Given the description of an element on the screen output the (x, y) to click on. 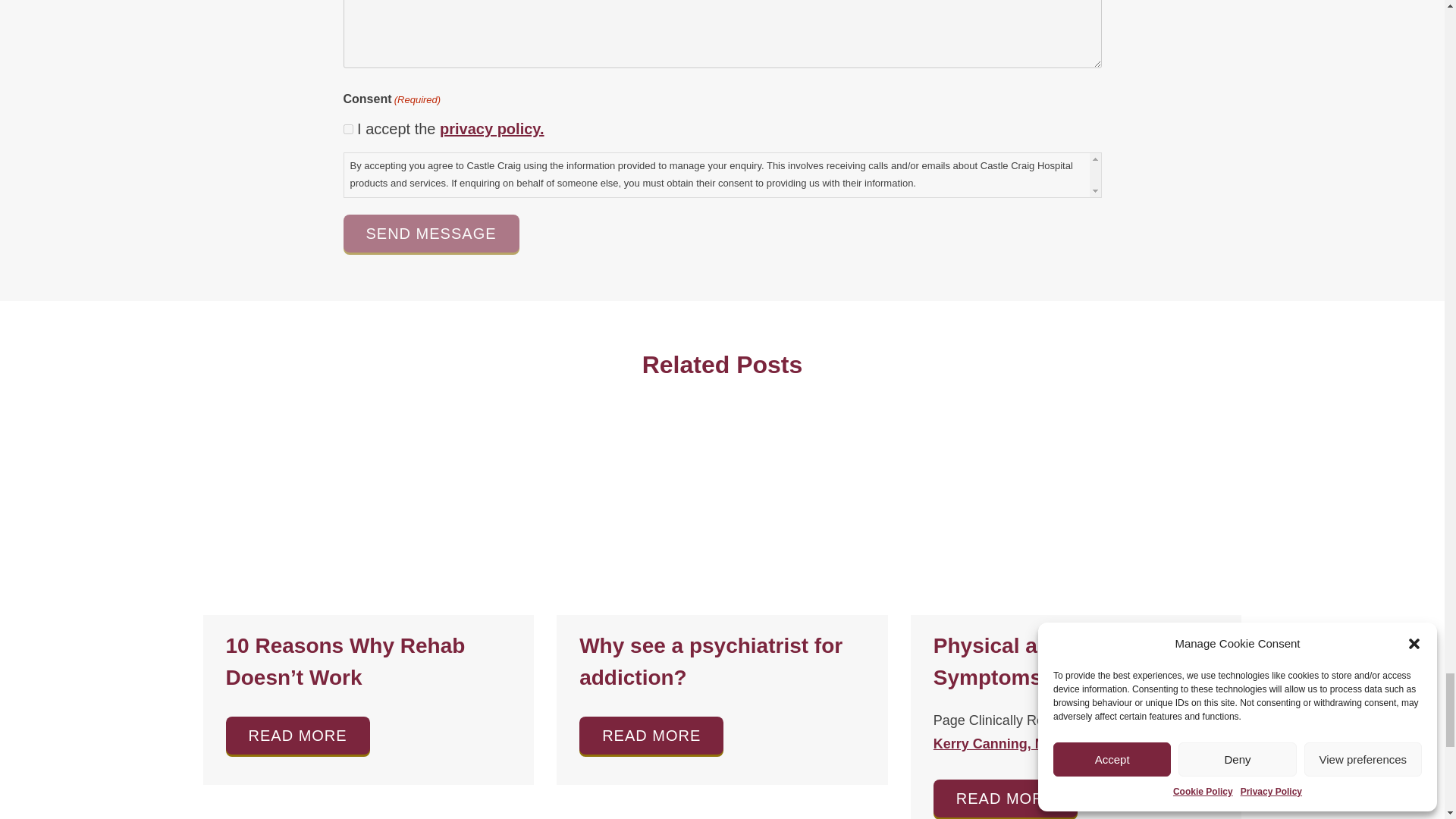
Read more (1076, 521)
Read more (651, 735)
Read more (722, 521)
Read more (1005, 798)
Read more (368, 521)
1 (347, 129)
Read more (297, 735)
Send Message (430, 233)
